Given the description of an element on the screen output the (x, y) to click on. 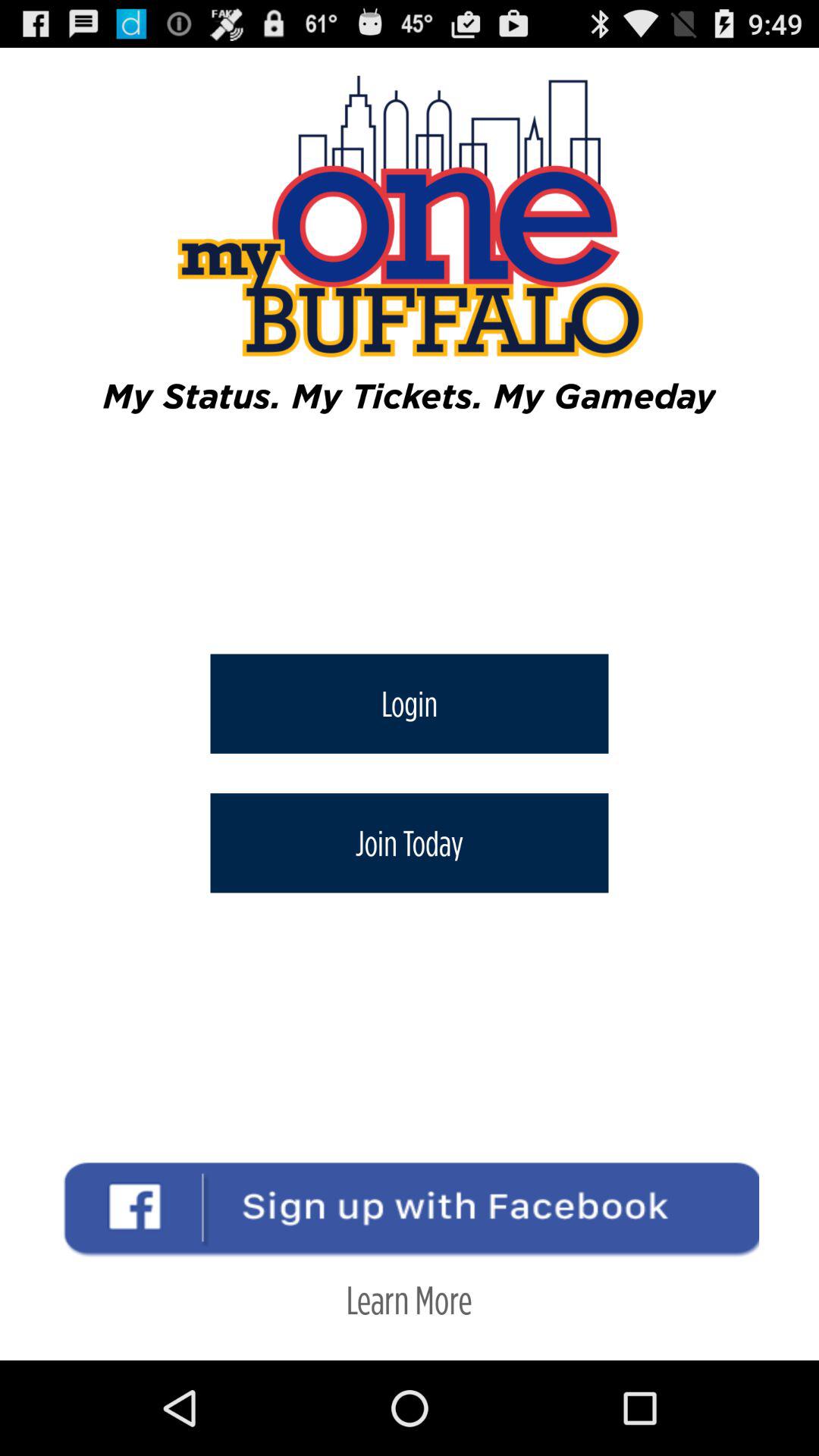
turn off app at the bottom (409, 1299)
